Given the description of an element on the screen output the (x, y) to click on. 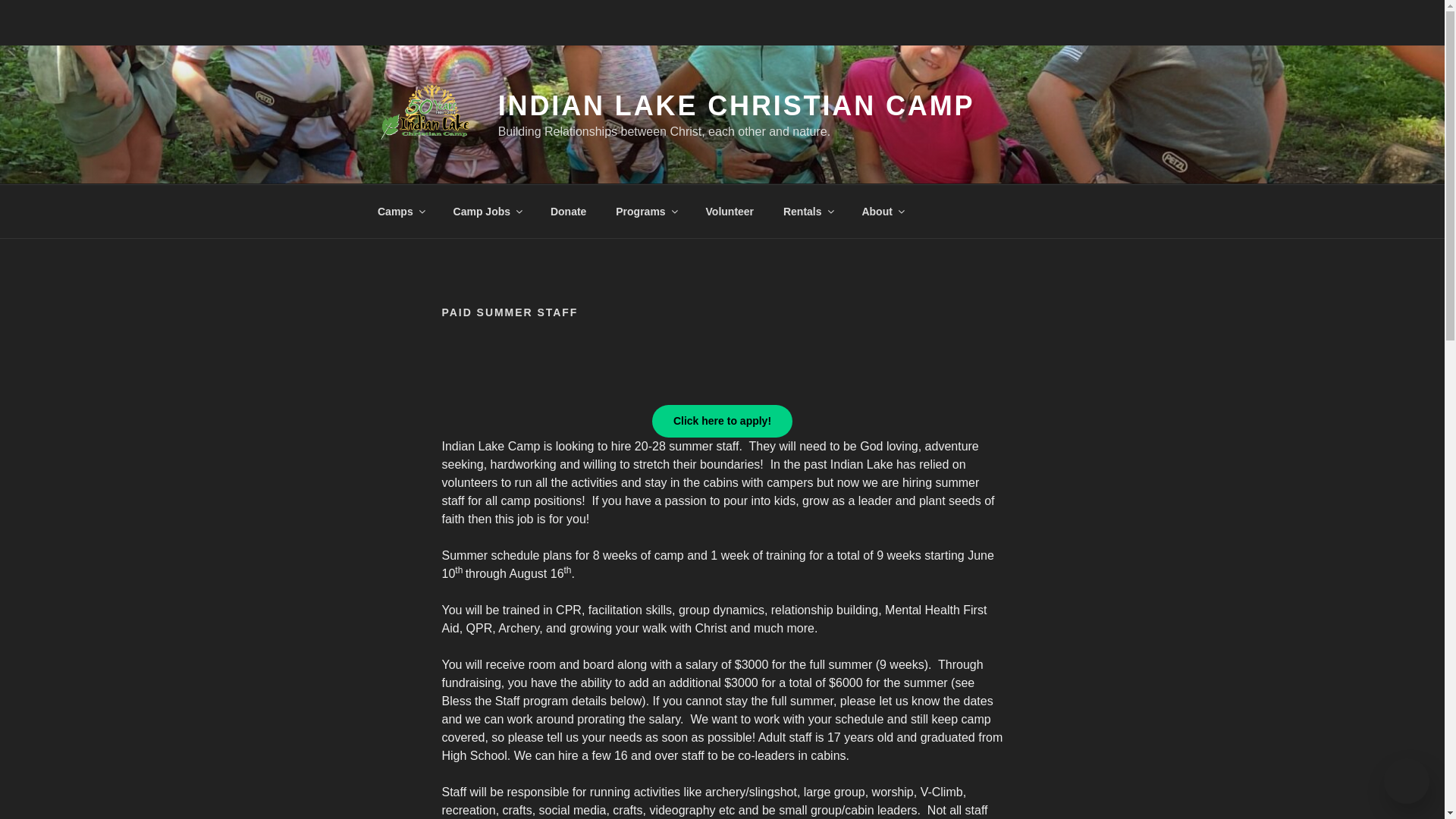
Camps (400, 211)
INDIAN LAKE CHRISTIAN CAMP (736, 105)
About (881, 211)
Donate (567, 211)
Programs (645, 211)
Camp Jobs (486, 211)
Volunteer (730, 211)
Rentals (807, 211)
